Given the description of an element on the screen output the (x, y) to click on. 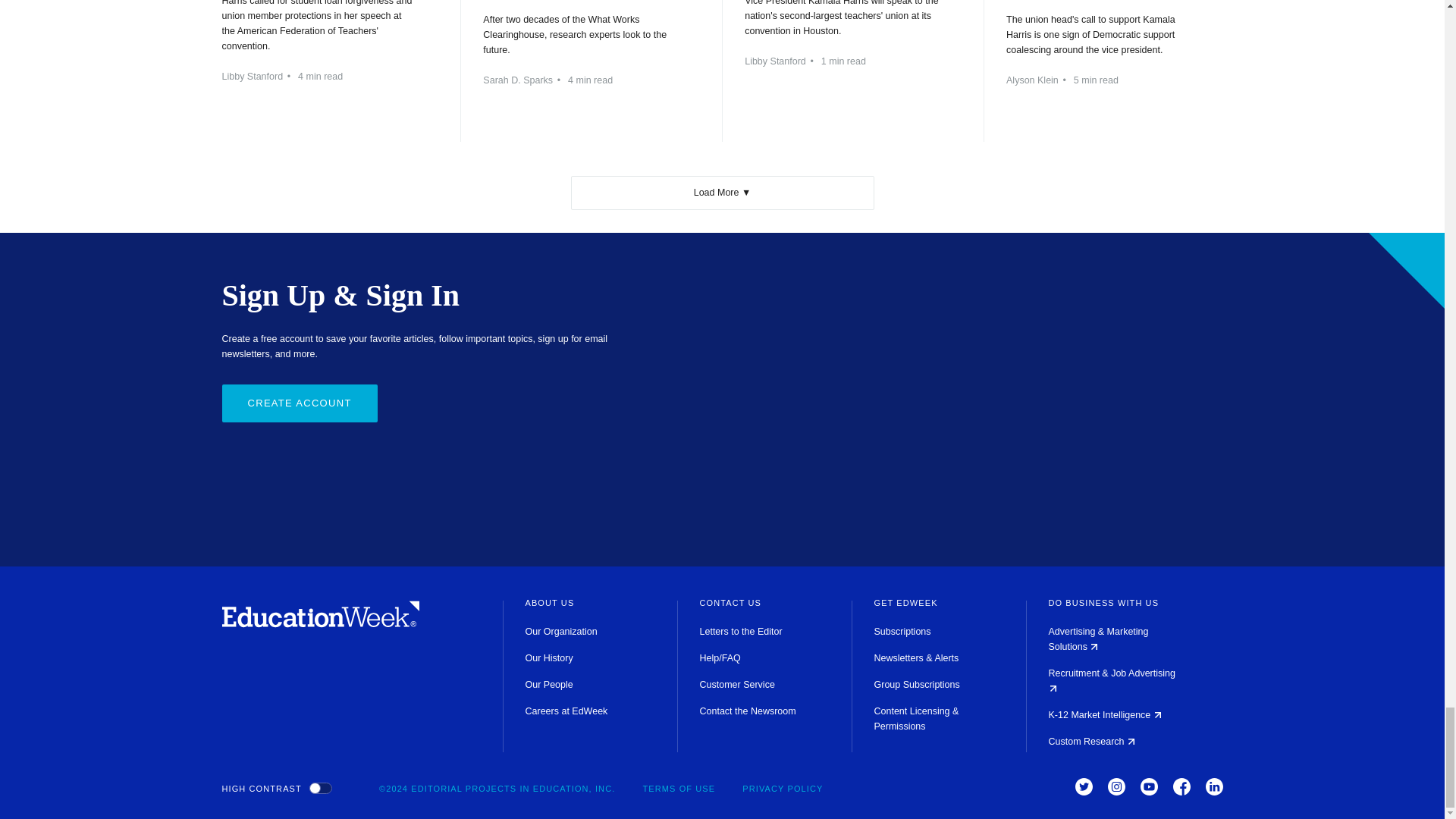
Homepage (320, 623)
